Given the description of an element on the screen output the (x, y) to click on. 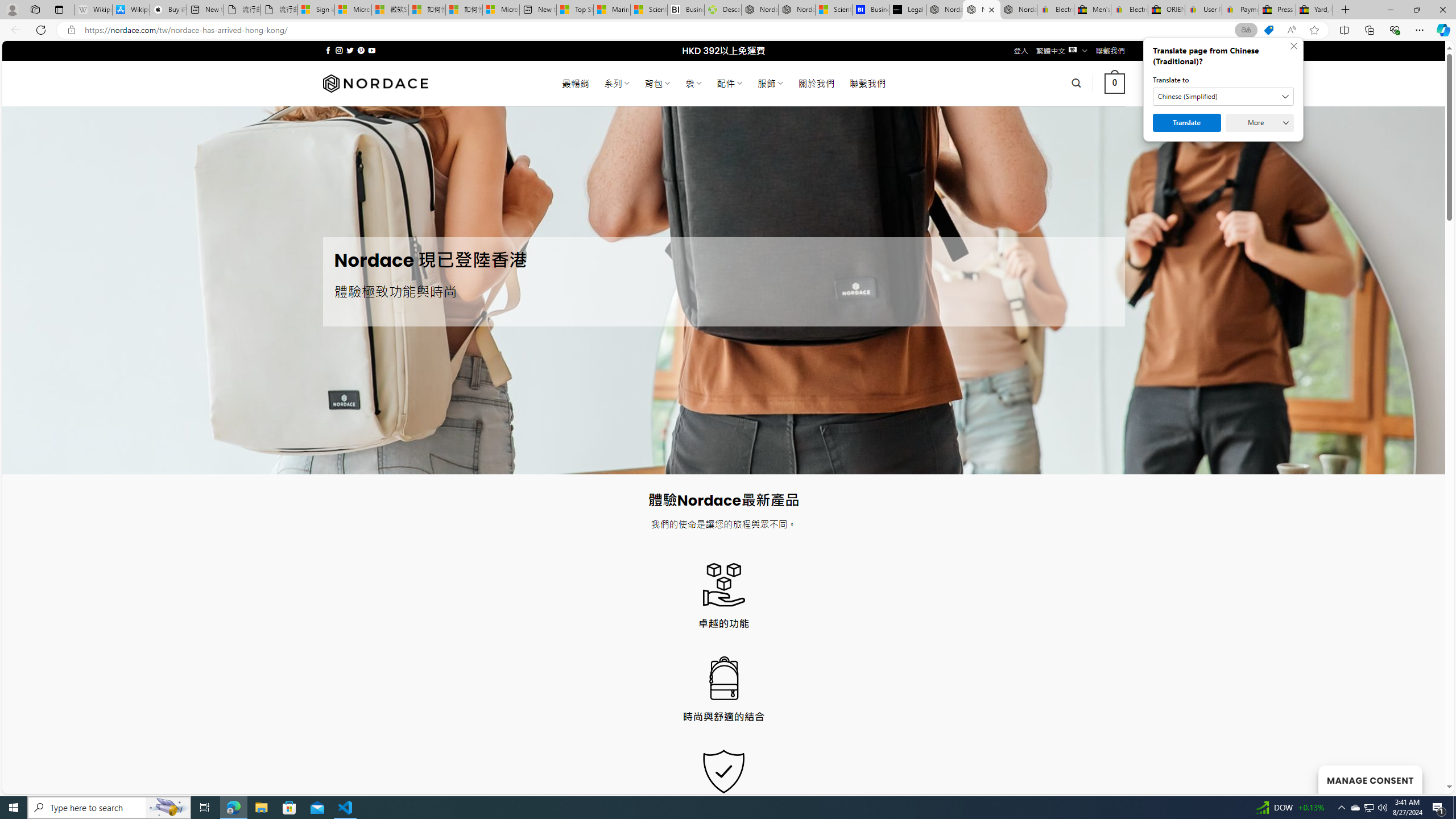
Follow on Facebook (327, 50)
